Given the description of an element on the screen output the (x, y) to click on. 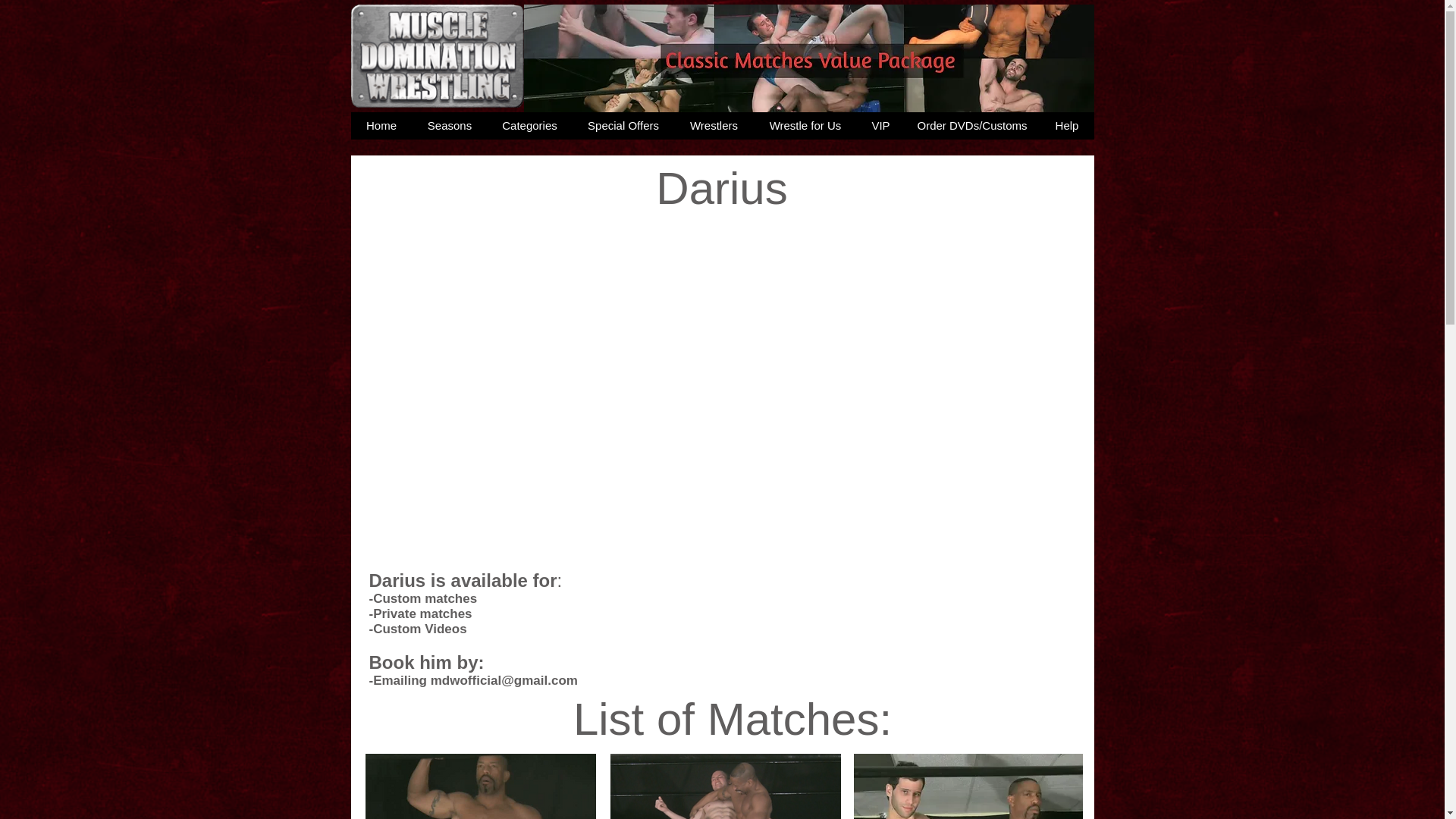
Home (381, 125)
VIP (880, 125)
Special Offers (622, 125)
Seasons (449, 125)
Wrestle for Us (805, 125)
Help (1066, 125)
Wrestlers (712, 125)
